Given the description of an element on the screen output the (x, y) to click on. 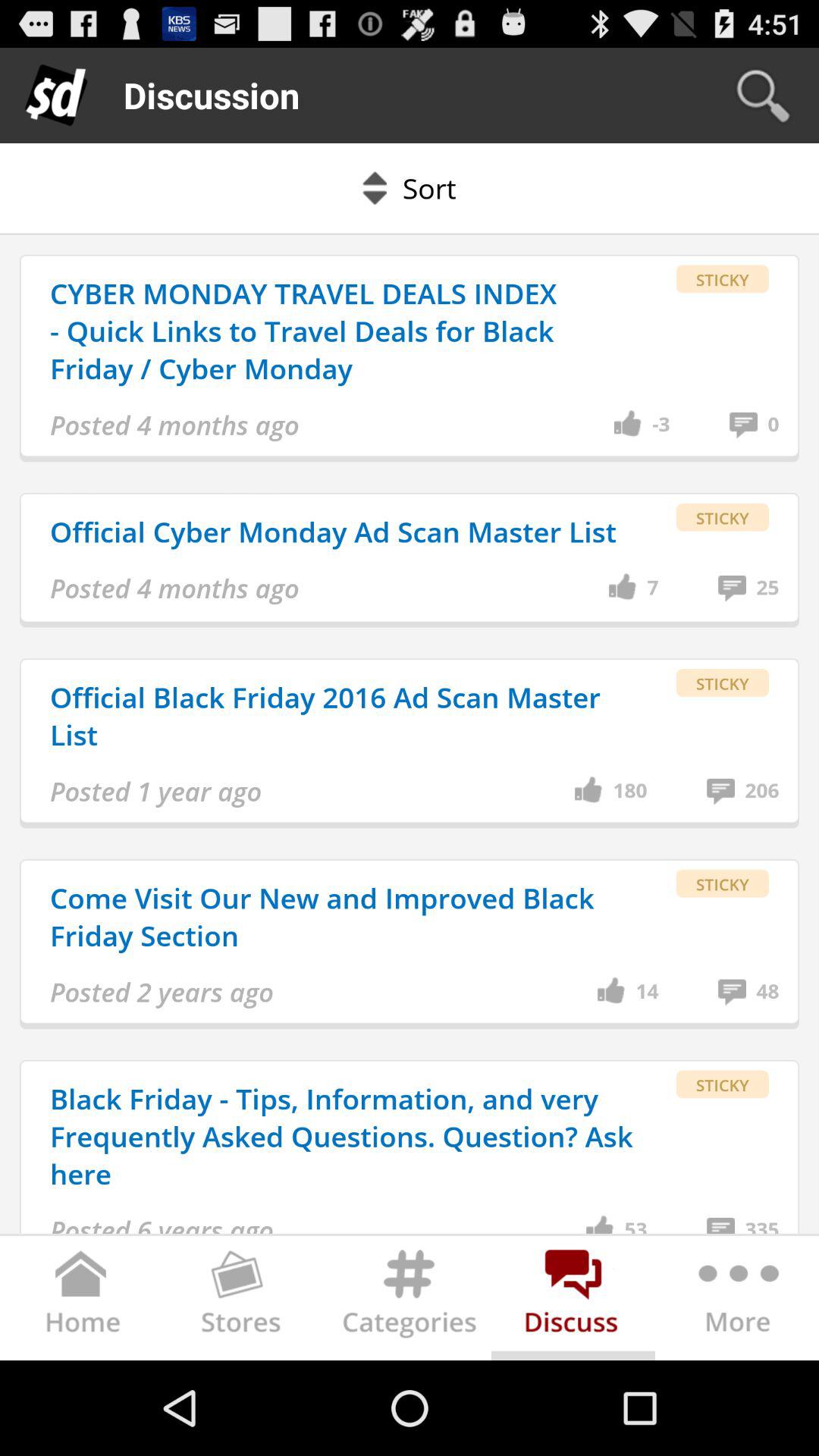
jump until 7 item (652, 588)
